Given the description of an element on the screen output the (x, y) to click on. 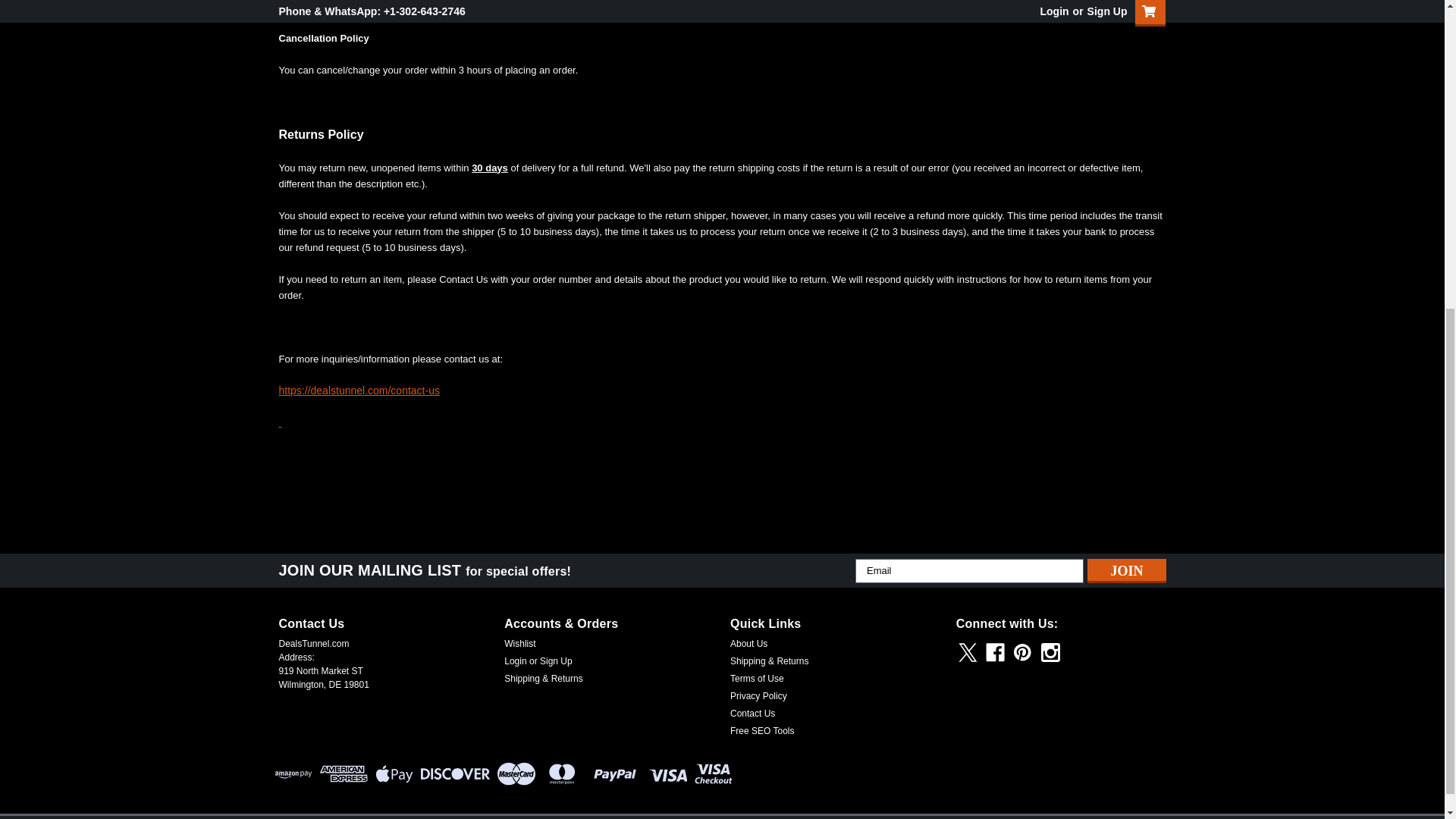
Join (1126, 569)
